Given the description of an element on the screen output the (x, y) to click on. 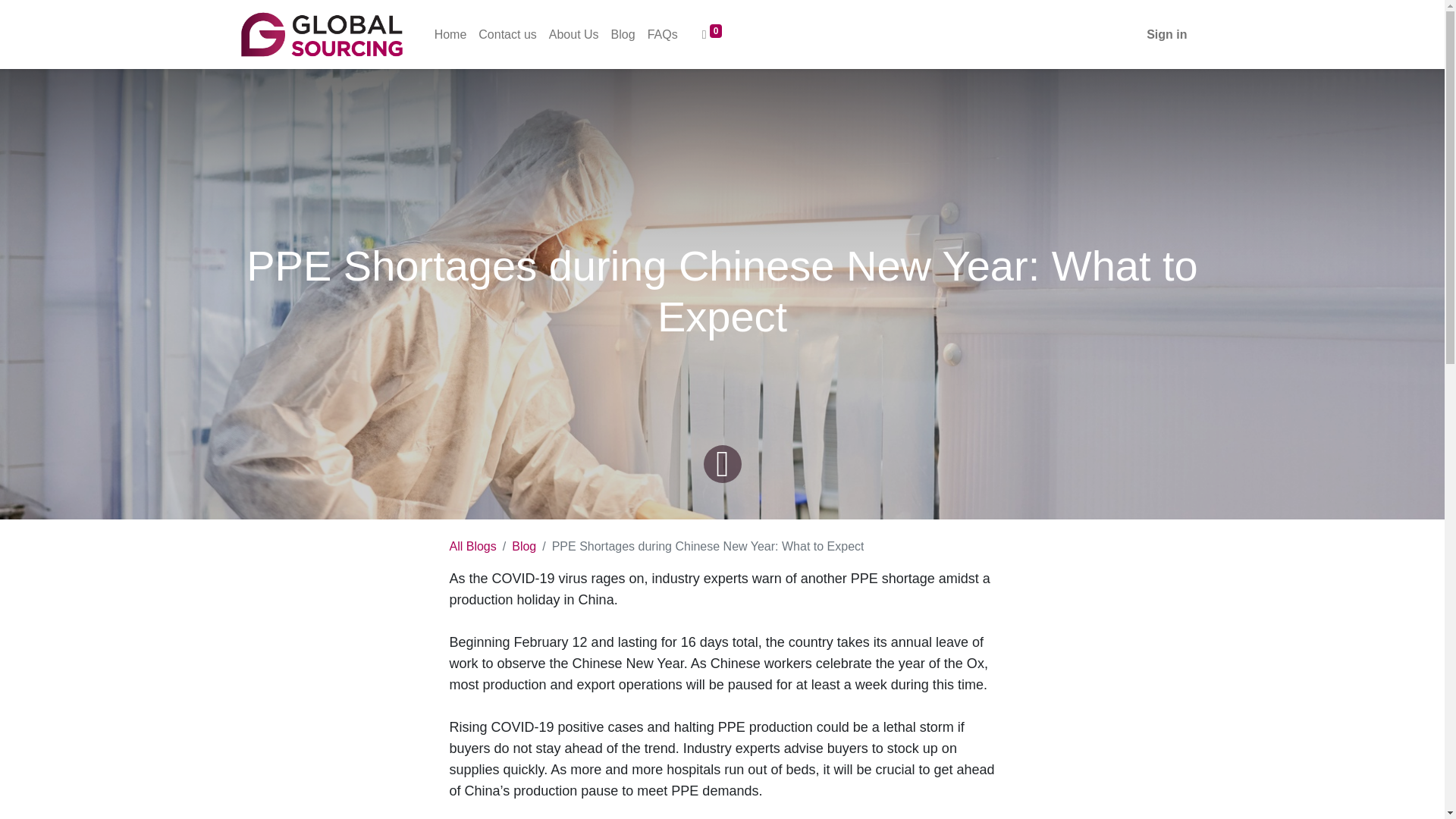
Global Sourcing PPE (321, 34)
Blog (523, 545)
About Us (574, 34)
Blog (623, 34)
Sign in (1166, 34)
Home (450, 34)
0 (712, 34)
FAQs (663, 34)
All Blogs (472, 545)
Contact us (506, 34)
